Given the description of an element on the screen output the (x, y) to click on. 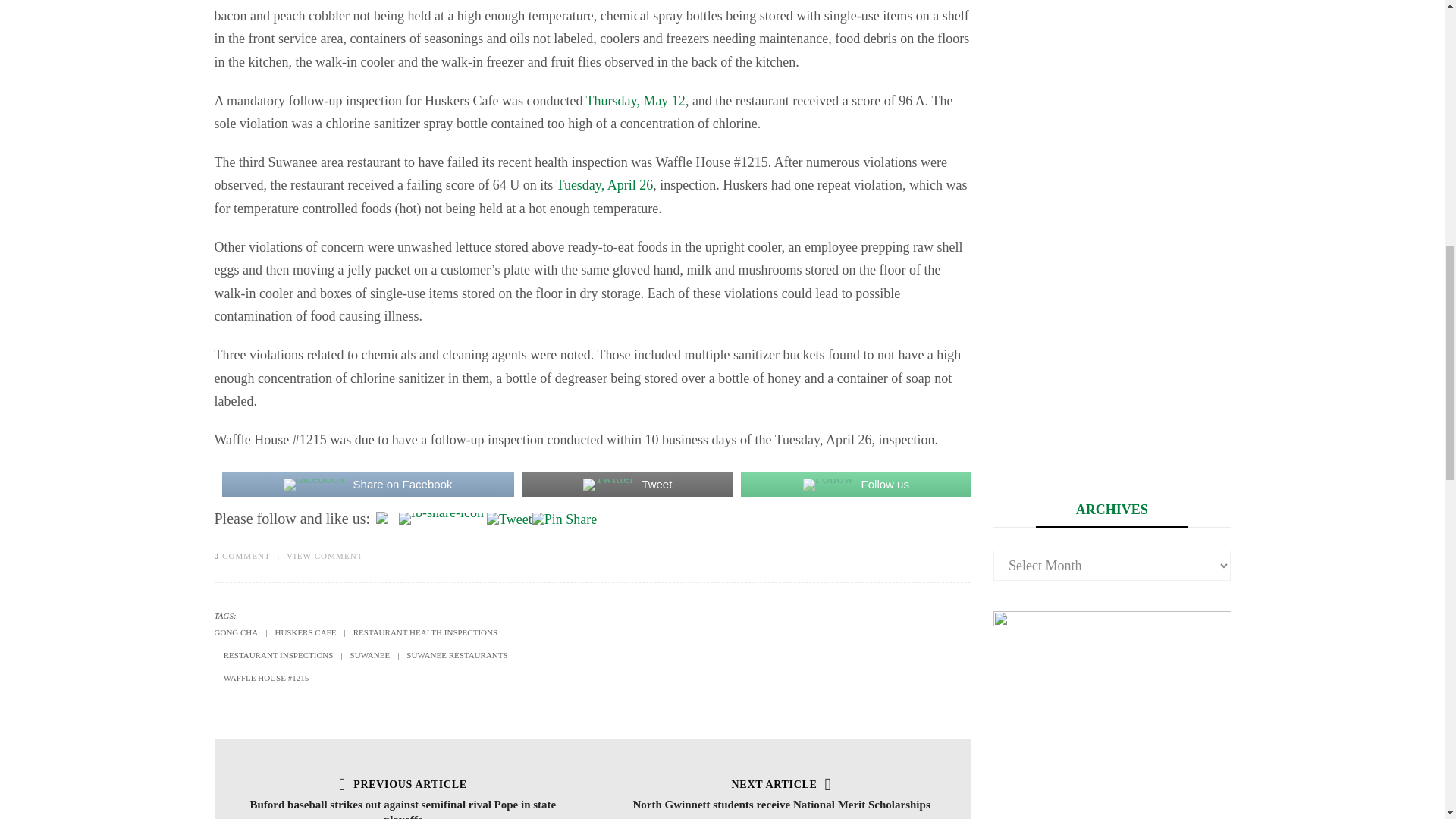
Tweet (627, 484)
Tweet (509, 519)
Facebook Share (440, 518)
Share on Facebook (367, 484)
Tuesday, April 26 (604, 184)
Thursday, May 12 (635, 100)
Follow us (856, 484)
